Given the description of an element on the screen output the (x, y) to click on. 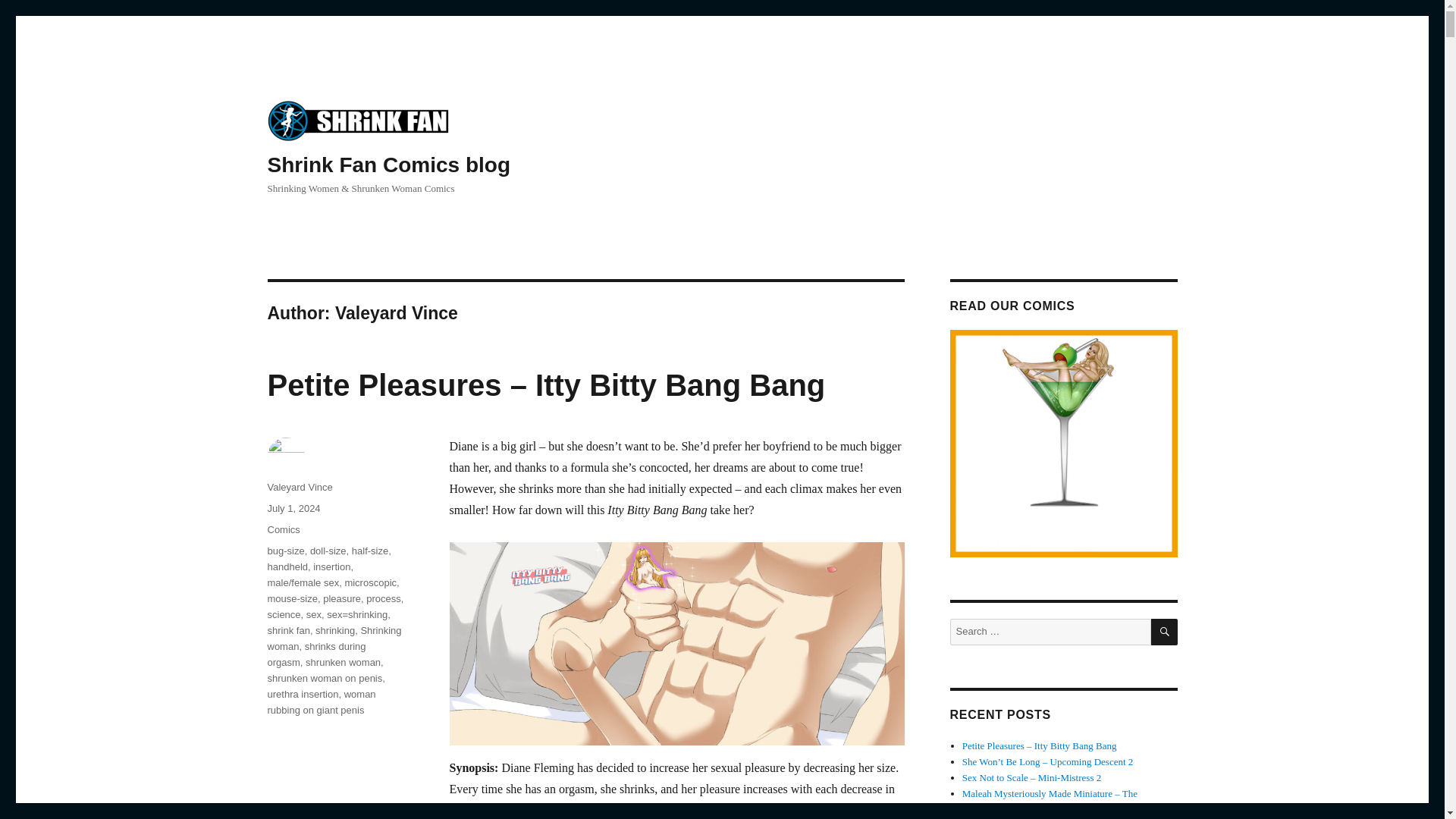
half-size (370, 550)
bug-size (285, 550)
Shrink Fan Comics blog (387, 164)
process (383, 598)
pleasure (342, 598)
woman rubbing on giant penis (320, 701)
microscopic (369, 582)
handheld (286, 566)
shrunken woman on penis (323, 677)
sex (313, 614)
science (282, 614)
shrunken woman (342, 662)
Valeyard Vince (298, 487)
urethra insertion (301, 694)
insertion (331, 566)
